Given the description of an element on the screen output the (x, y) to click on. 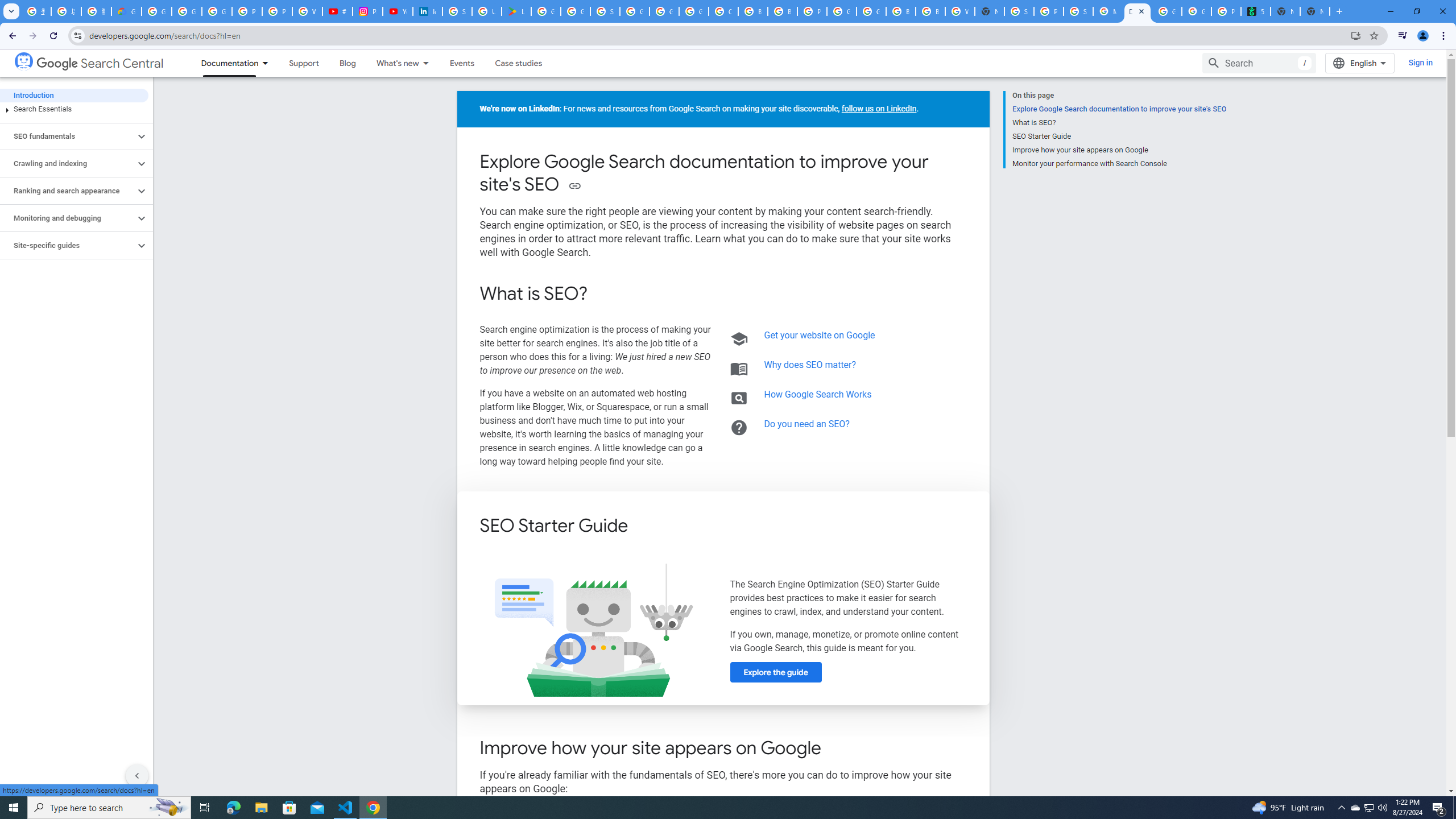
YouTube Culture & Trends - On The Rise: Handcam Videos (397, 11)
Events (461, 62)
Support (303, 62)
#nbabasketballhighlights - YouTube (337, 11)
New Tab (989, 11)
